Given the description of an element on the screen output the (x, y) to click on. 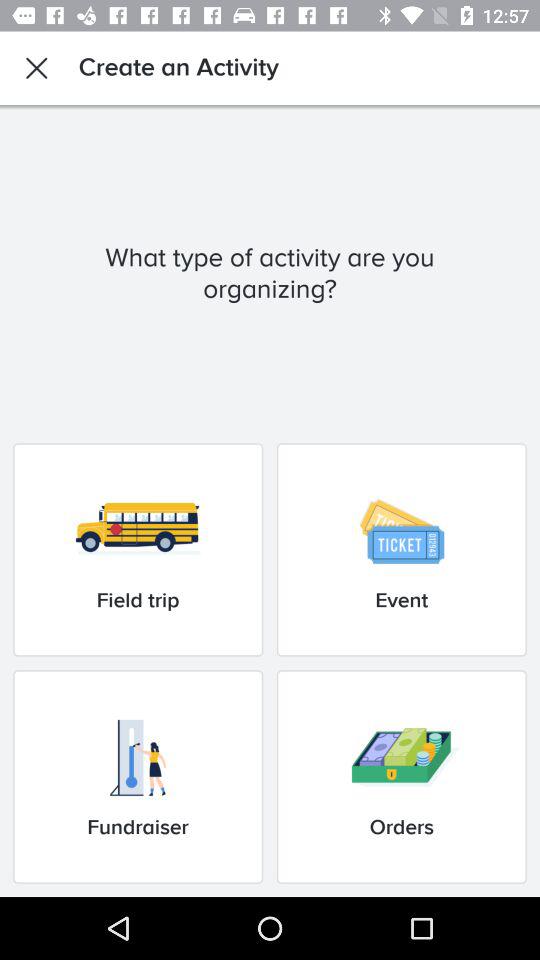
select icon on the left (138, 549)
